Given the description of an element on the screen output the (x, y) to click on. 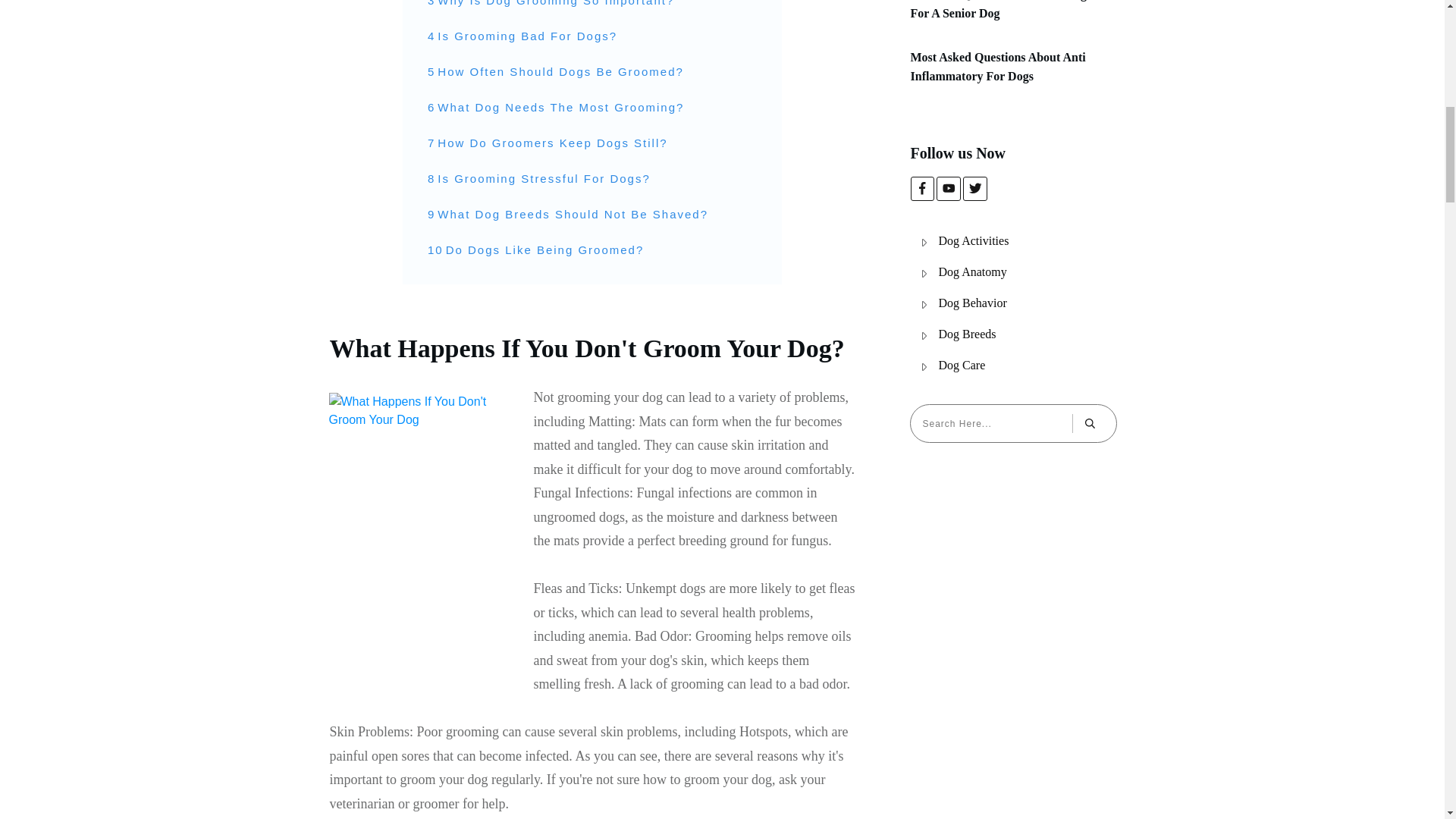
How Often Should Dogs Be Groomed? (560, 72)
Do Dogs Like Being Groomed? (545, 249)
How Often Should Dogs Be Groomed? (560, 72)
Is Grooming Bad For Dogs? (527, 36)
How Do Groomers Keep Dogs Still? (552, 143)
Why Is Dog Grooming So Important? (556, 4)
Is Grooming Bad For Dogs? (527, 36)
What Dog Breeds Should Not Be Shaved? (572, 214)
How Do Groomers Keep Dogs Still? (552, 143)
